Given the description of an element on the screen output the (x, y) to click on. 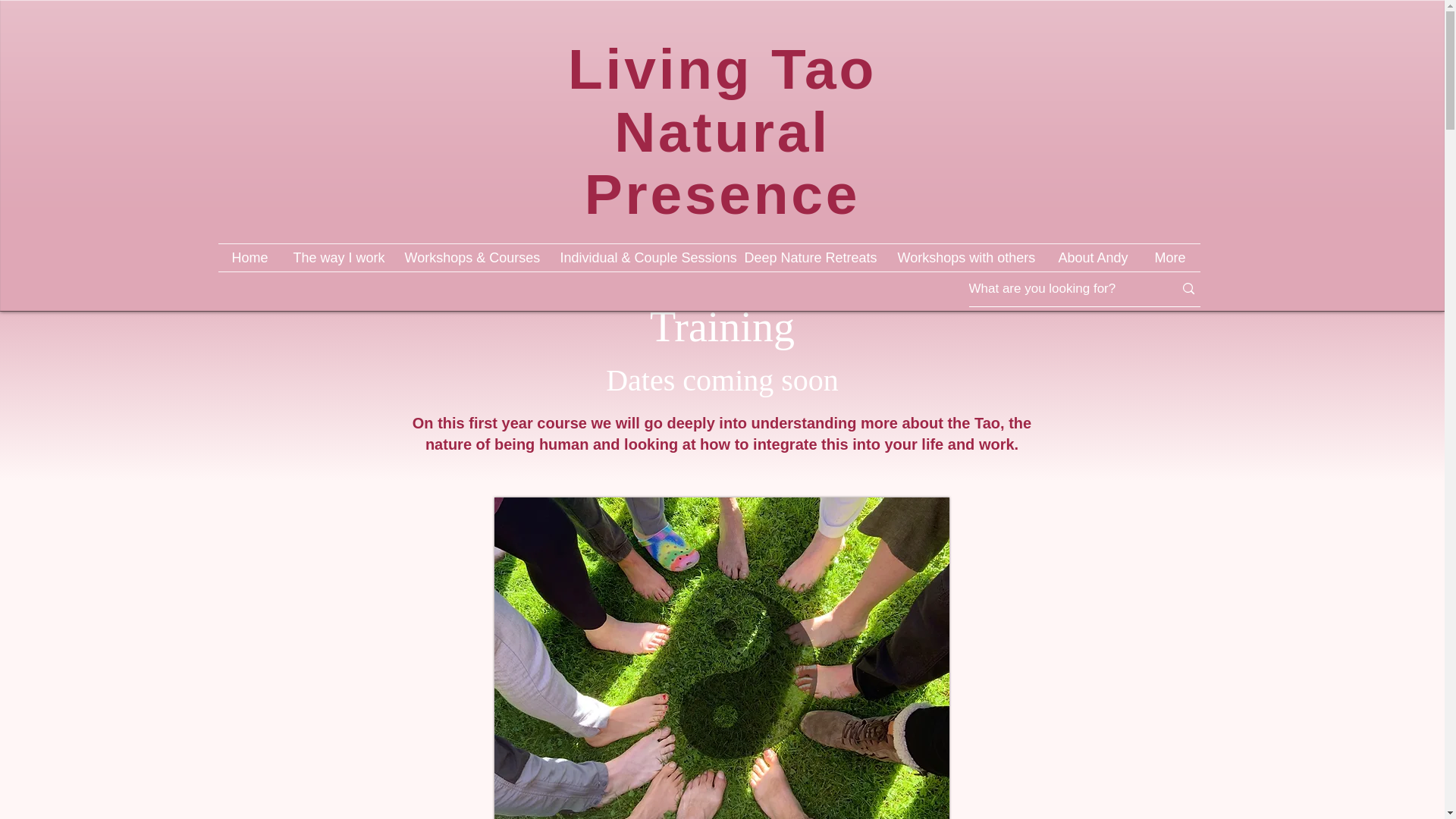
Workshops with others (965, 257)
Home (250, 257)
Living Tao (721, 68)
Deep Nature Retreats (808, 257)
The way I work (337, 257)
Natural Presence (722, 162)
About Andy (1093, 257)
